Given the description of an element on the screen output the (x, y) to click on. 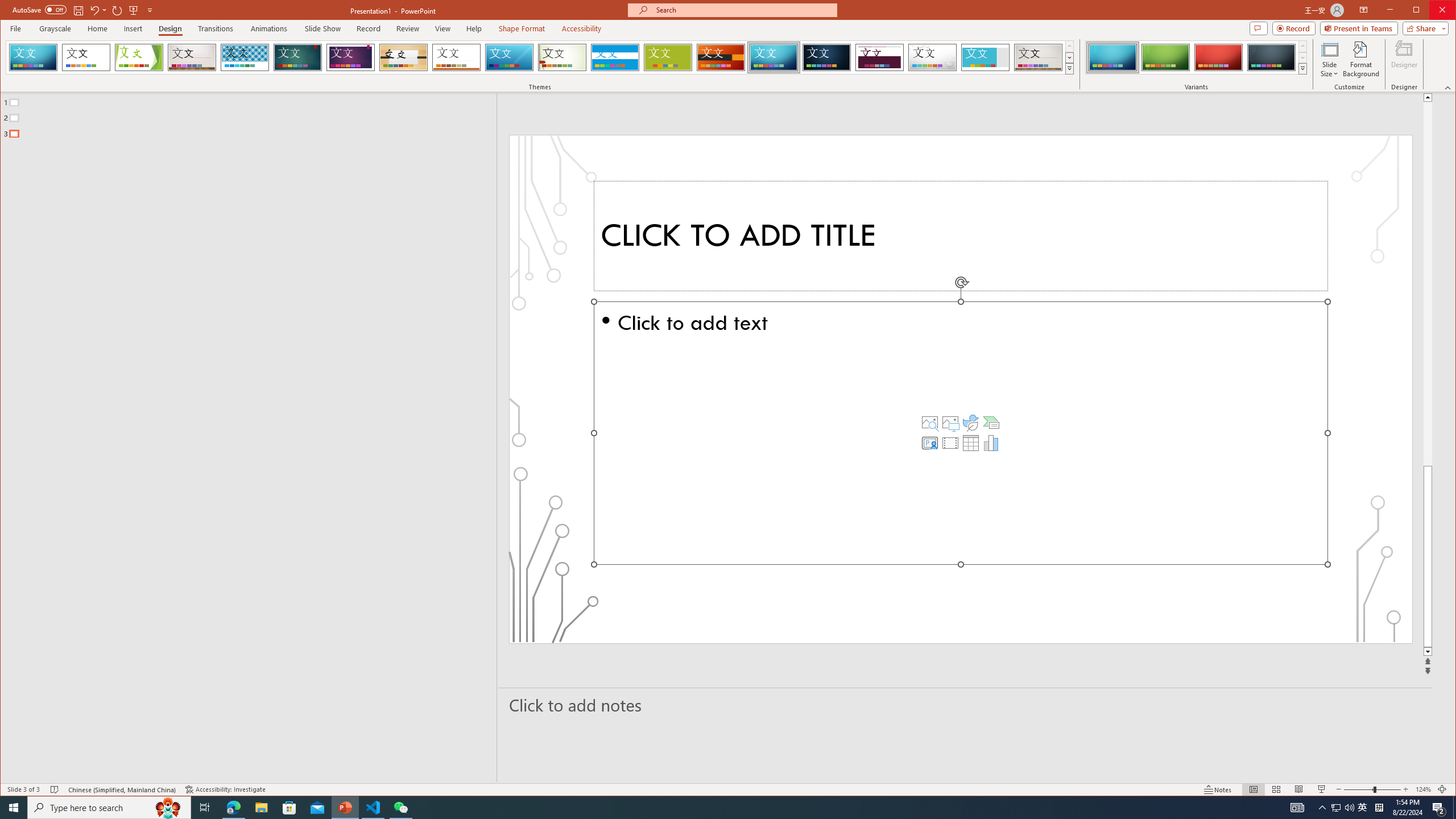
Frame (985, 57)
Insert Table (1362, 807)
Customize Quick Access Toolbar (970, 443)
Dividend (150, 9)
Insert Cameo (879, 57)
Outline (929, 443)
Row Down (252, 115)
Undo (1302, 57)
More Options (98, 9)
Accessibility Checker Accessibility: Investigate (105, 9)
Minimize (225, 789)
Slide Size (1419, 11)
WeChat - 1 running window (1328, 59)
